Given the description of an element on the screen output the (x, y) to click on. 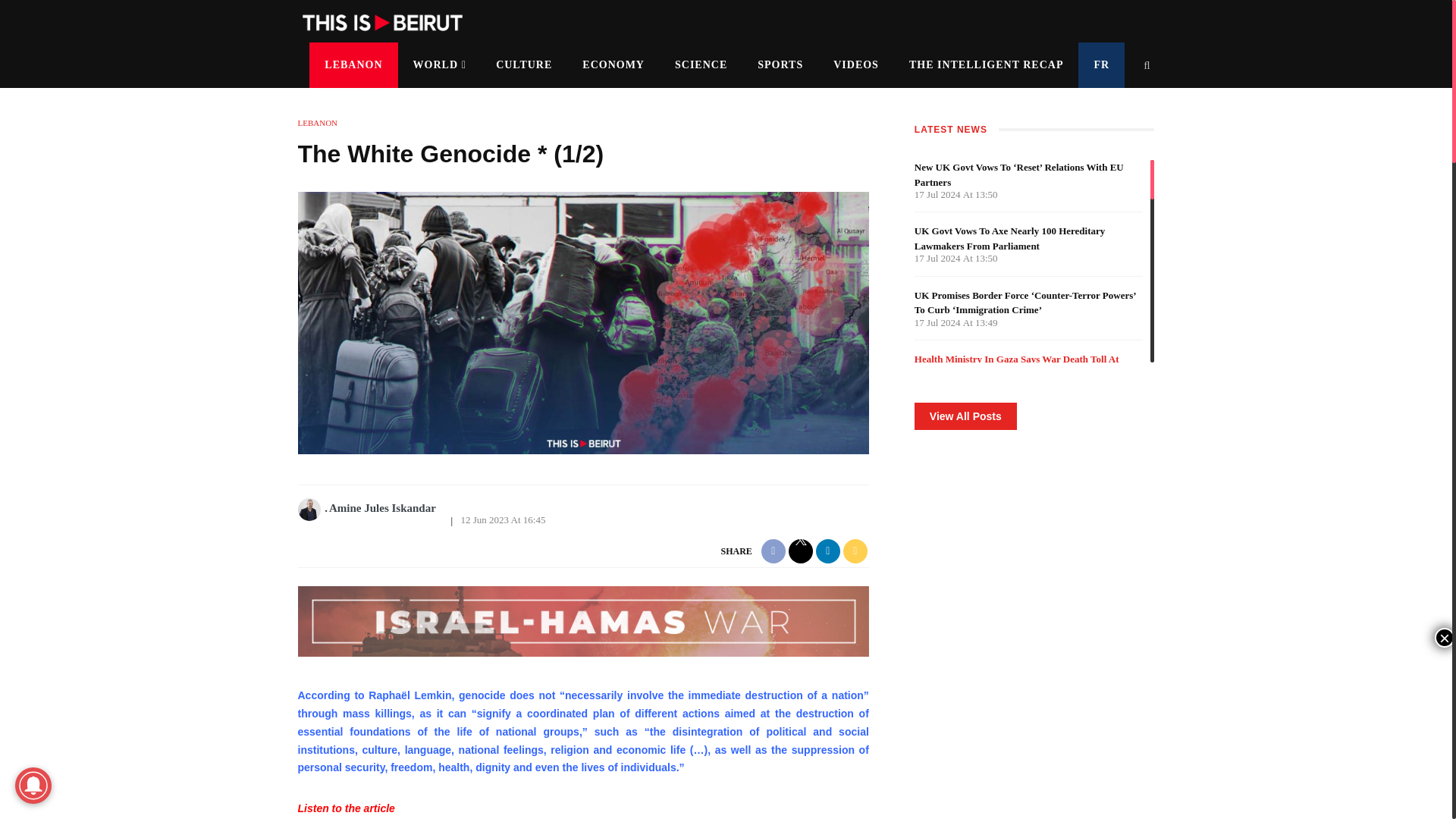
THE INTELLIGENT RECAP (985, 64)
FR (1101, 64)
search (1147, 64)
ECONOMY (613, 64)
LEBANON (352, 64)
VIDEOS (855, 64)
SCIENCE (700, 64)
SPORTS (780, 64)
WORLD (439, 64)
CULTURE (523, 64)
Amine Jules Iskandar (379, 508)
Post by Amine Jules Iskandar (310, 508)
LEBANON (317, 122)
Amine Jules Iskandar (379, 508)
